Given the description of an element on the screen output the (x, y) to click on. 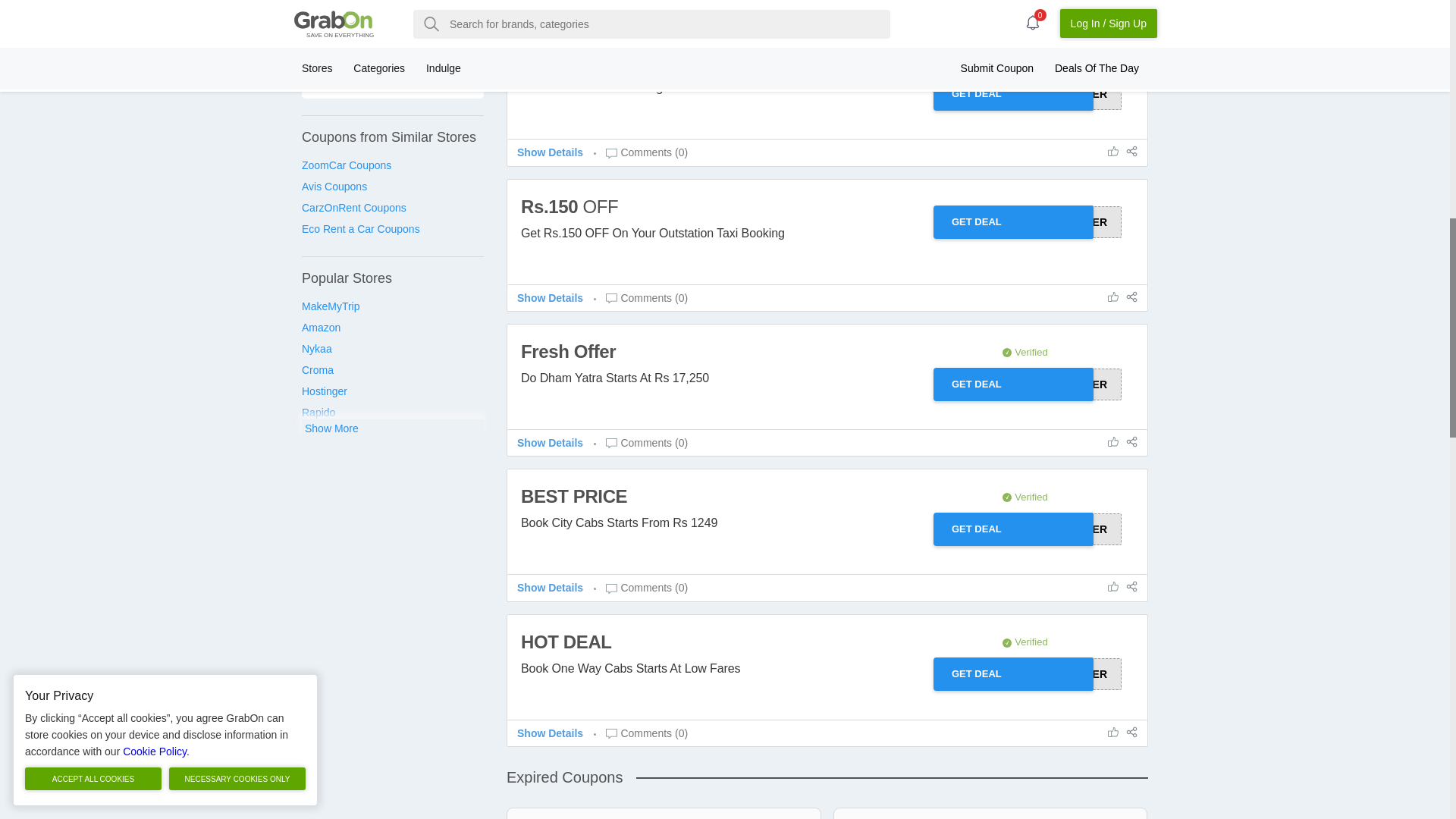
ZoomCar (392, 165)
Croma (392, 369)
Amazon (392, 327)
Amazon (392, 327)
CarzOnRent Coupons (392, 207)
CarzOnRent (392, 207)
Hostinger (392, 391)
Hostinger (392, 391)
ZoomCar Coupons (392, 165)
MakeMyTrip (392, 305)
Nykaa (392, 348)
Eco Rent a Car Coupons (392, 228)
Croma (392, 369)
Avis Coupons (392, 186)
MakeMyTrip (392, 305)
